Given the description of an element on the screen output the (x, y) to click on. 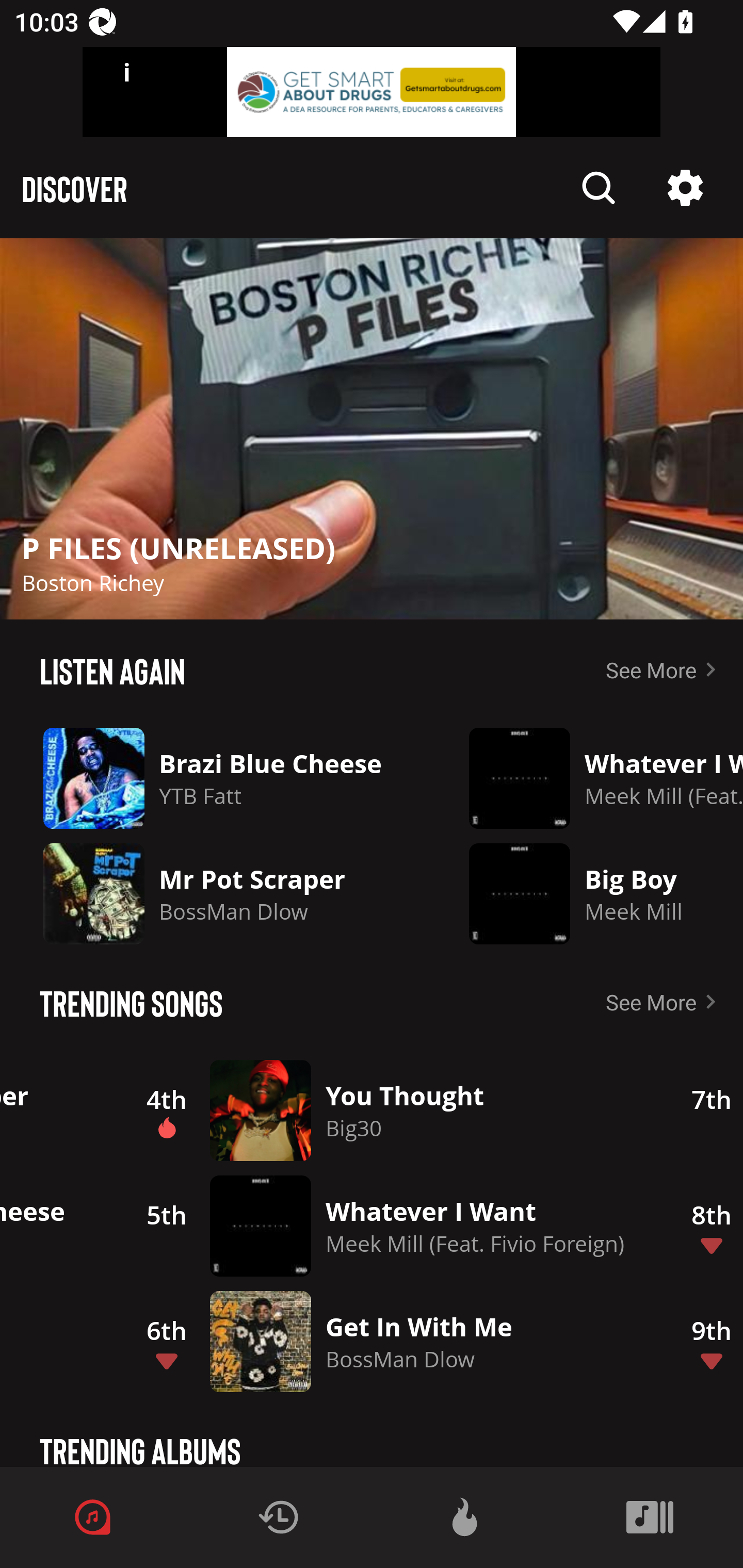
Description (598, 188)
Description (684, 188)
Description (371, 428)
See More (664, 669)
Description Brazi Blue Cheese YTB Fatt (219, 778)
Description Mr Pot Scraper BossMan Dlow (219, 893)
Description Big Boy Meek Mill (591, 893)
See More (664, 1001)
4th Description Description You Thought Big30 (388, 1110)
